Given the description of an element on the screen output the (x, y) to click on. 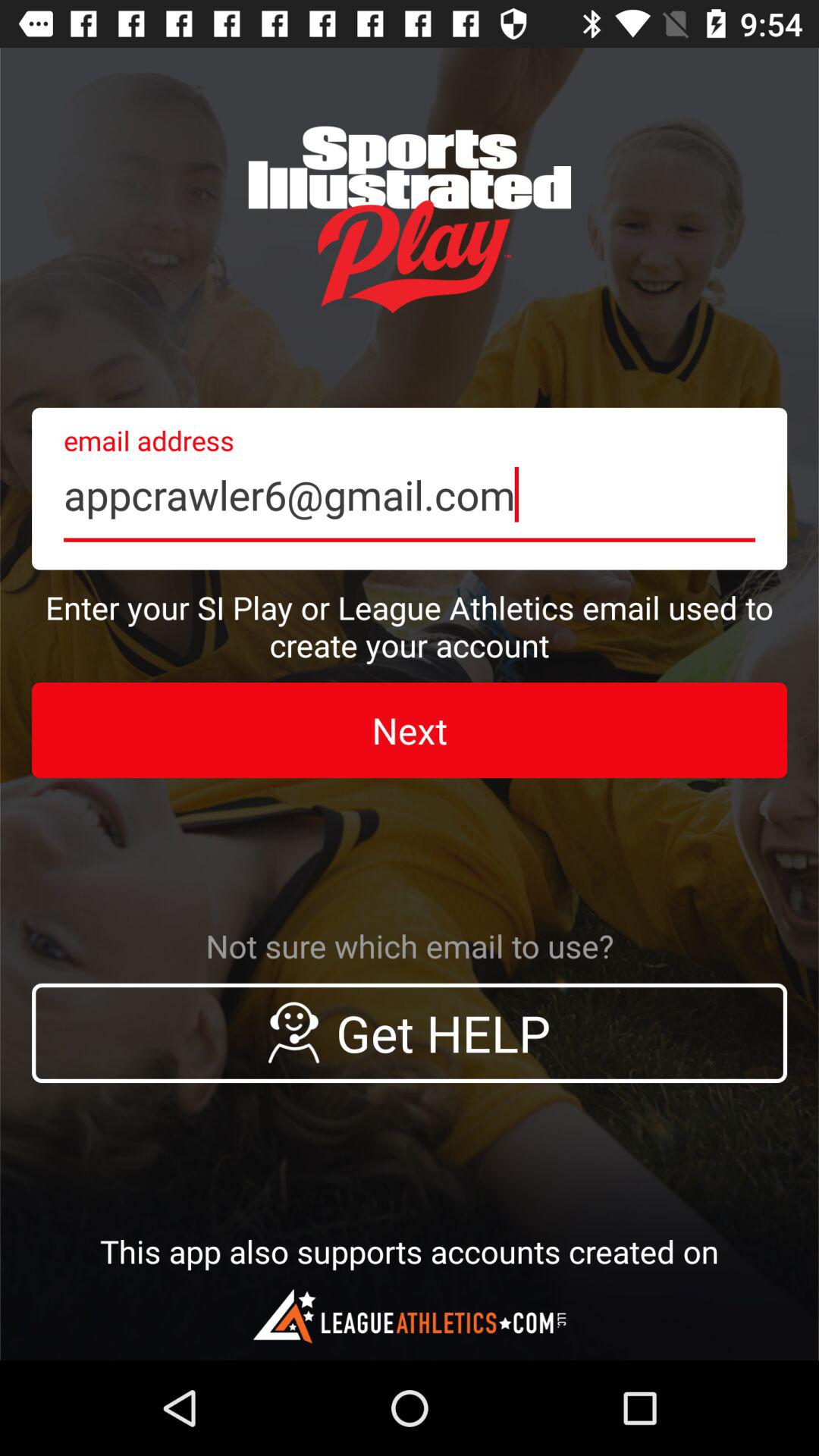
launch appcrawler6@gmail.com item (409, 488)
